Given the description of an element on the screen output the (x, y) to click on. 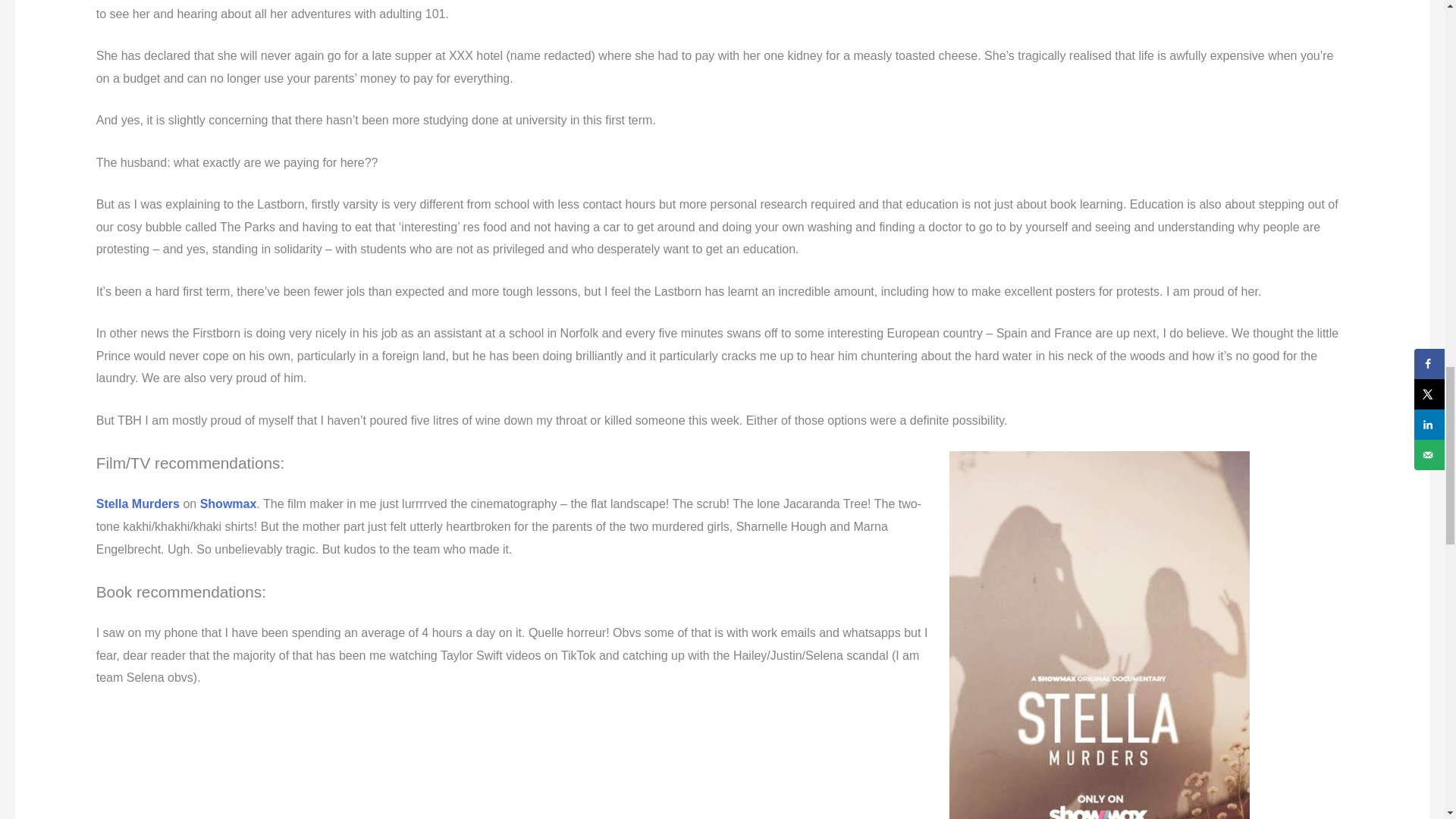
Stella Murders (137, 503)
